Given the description of an element on the screen output the (x, y) to click on. 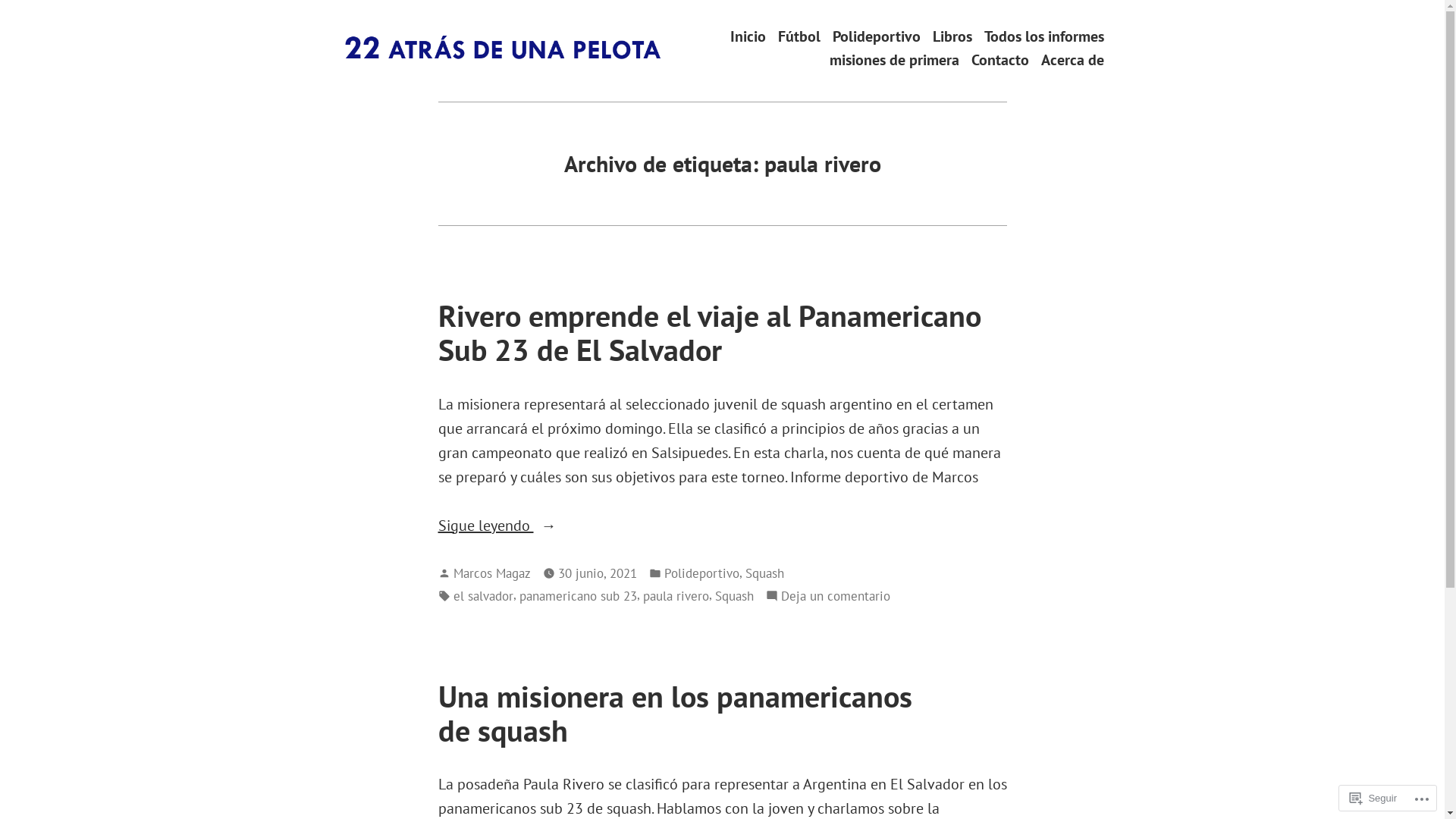
paula rivero Element type: text (676, 595)
Seguir Element type: text (1372, 797)
Contacto Element type: text (999, 59)
Libros Element type: text (952, 35)
Una misionera en los panamericanos de squash Element type: text (675, 712)
Squash Element type: text (733, 595)
Marcos Magaz Element type: text (491, 572)
Acerca de Element type: text (1071, 59)
30 junio, 2021 Element type: text (597, 572)
Deja un comentario Element type: text (835, 595)
Sigue leyendo Element type: text (722, 525)
Inicio Element type: text (747, 35)
Polideportivo Element type: text (876, 35)
Squash Element type: text (763, 572)
el salvador Element type: text (483, 595)
panamericano sub 23 Element type: text (577, 595)
Todos los informes Element type: text (1044, 35)
misiones de primera Element type: text (894, 59)
Polideportivo Element type: text (701, 572)
